Given the description of an element on the screen output the (x, y) to click on. 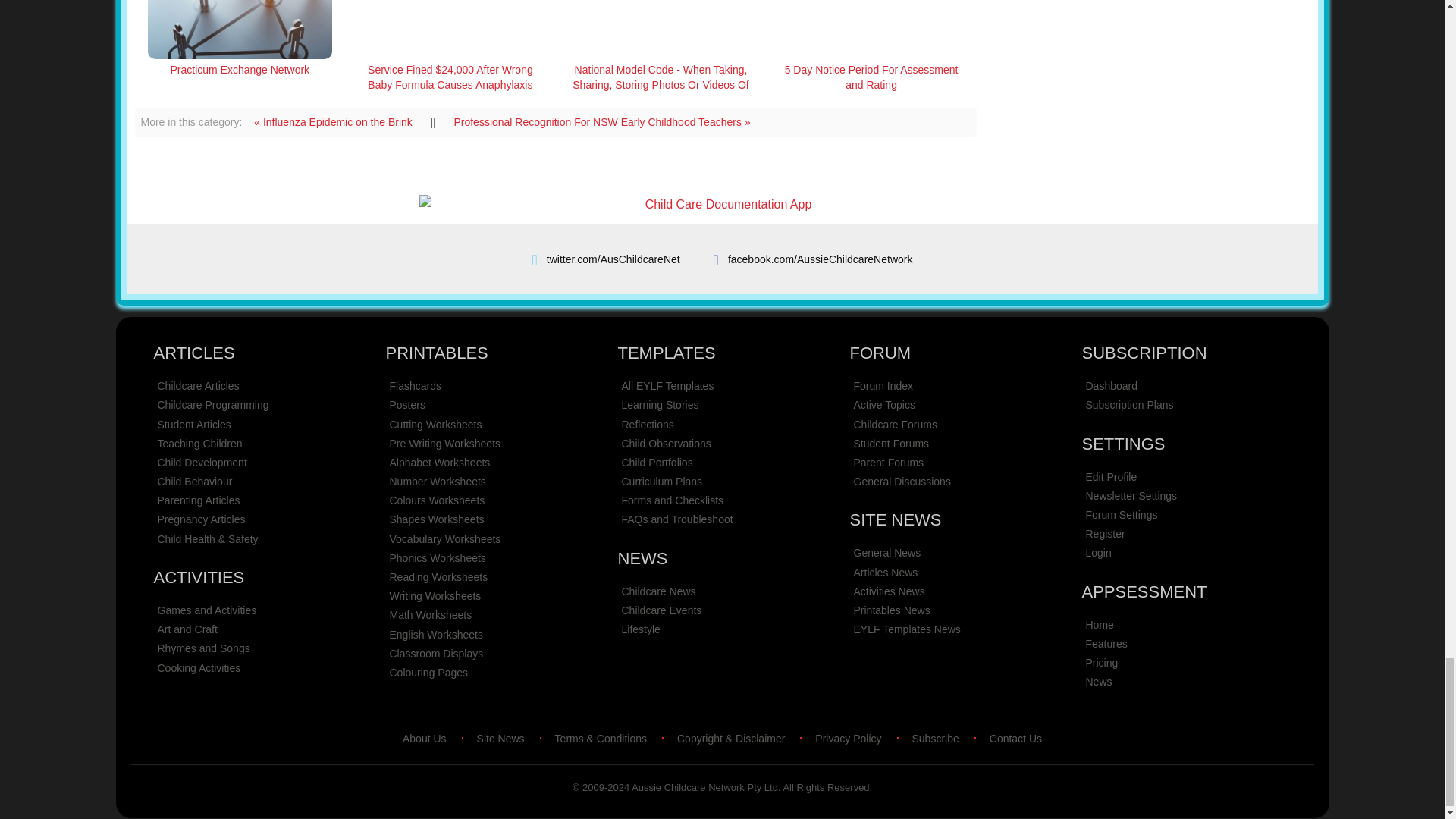
Practicum Exchange Network (239, 69)
5 Day Notice Period For Assessment and Rating (871, 77)
